Given the description of an element on the screen output the (x, y) to click on. 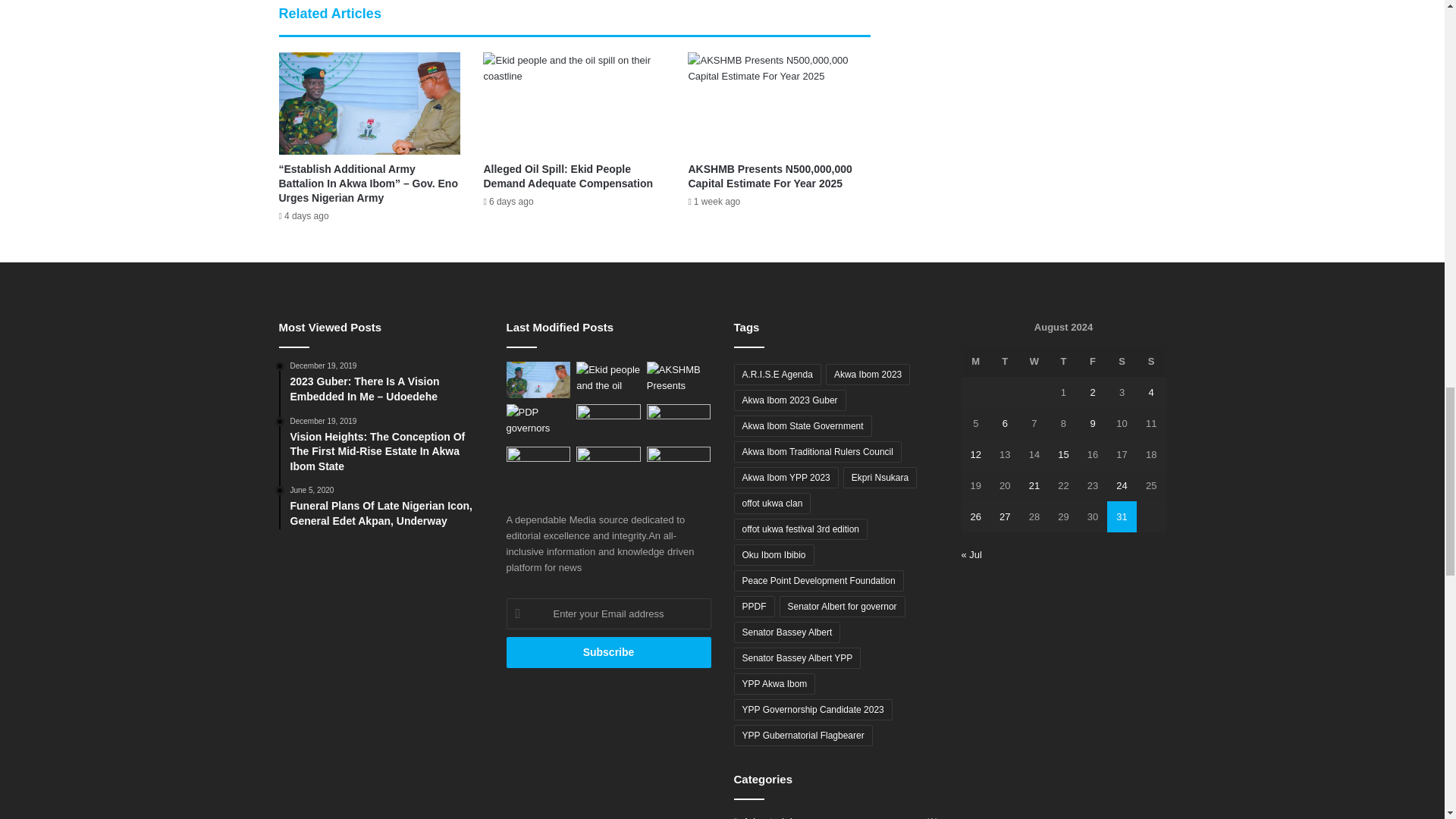
Sunday (1151, 360)
AKSHMB Presents N500,000,000 Capital Estimate For Year 2025 (769, 175)
Tuesday (1005, 360)
Thursday (1063, 360)
Wednesday (1034, 360)
Friday (1093, 360)
Alleged Oil Spill: Ekid People Demand Adequate Compensation (567, 175)
Monday (975, 360)
Saturday (1121, 360)
Subscribe (608, 652)
